Given the description of an element on the screen output the (x, y) to click on. 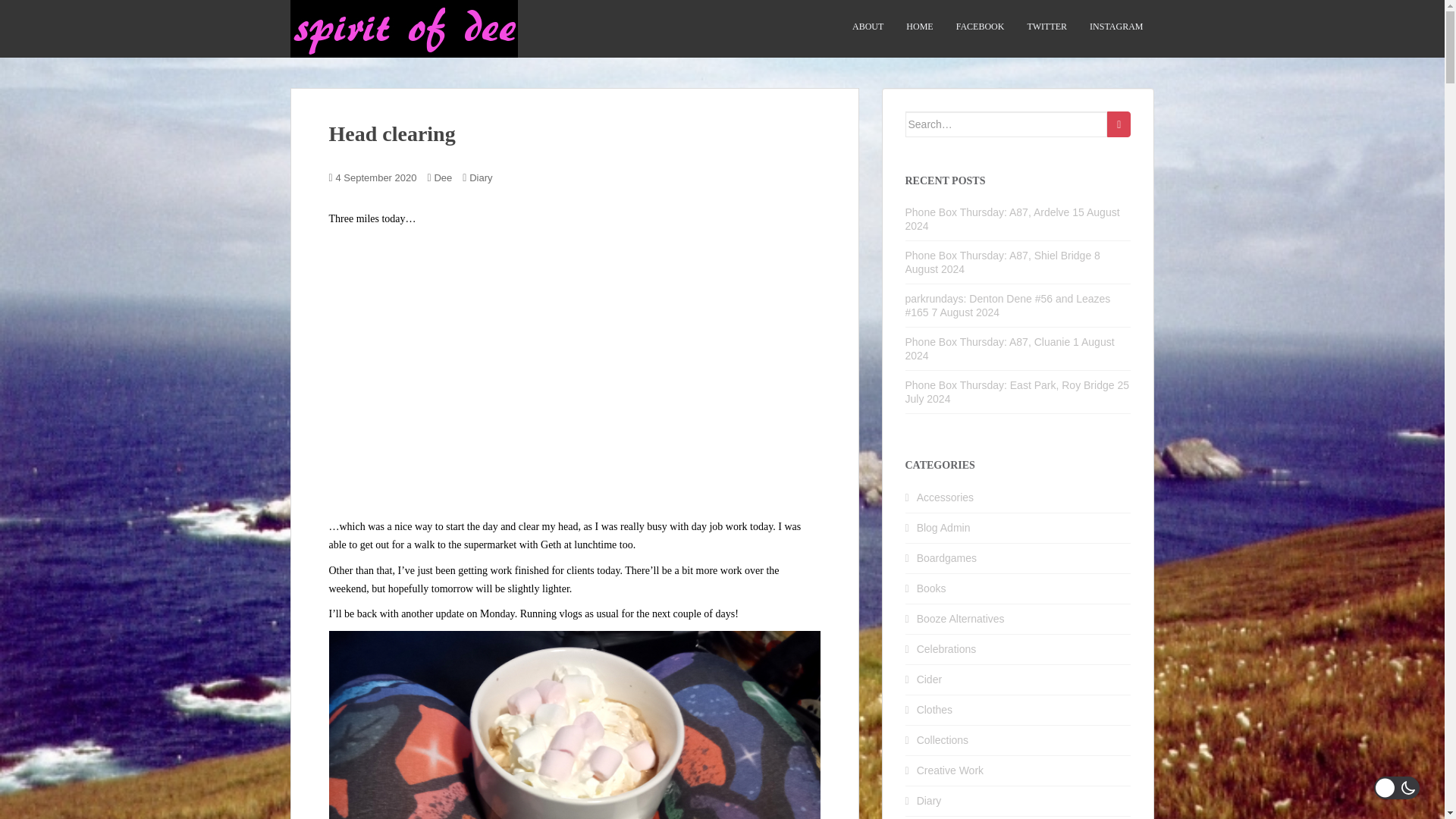
Books (931, 588)
Clothes (934, 709)
TWITTER (1046, 26)
Cider (929, 679)
Search (1118, 124)
Search for: (1006, 124)
INSTAGRAM (1115, 26)
Celebrations (946, 648)
Phone Box Thursday: A87, Shiel Bridge (998, 255)
